Given the description of an element on the screen output the (x, y) to click on. 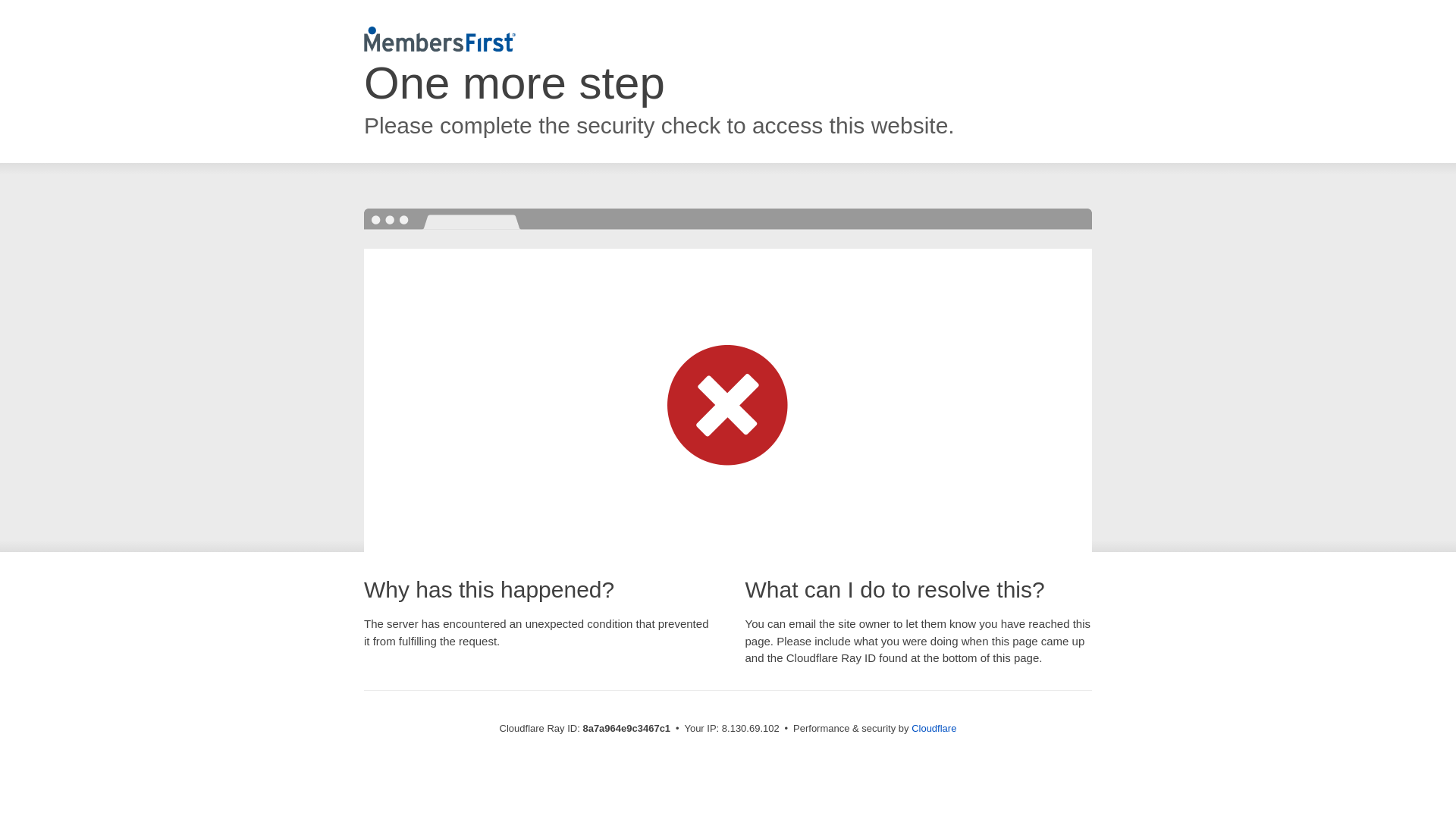
Cloudflare (933, 727)
